Given the description of an element on the screen output the (x, y) to click on. 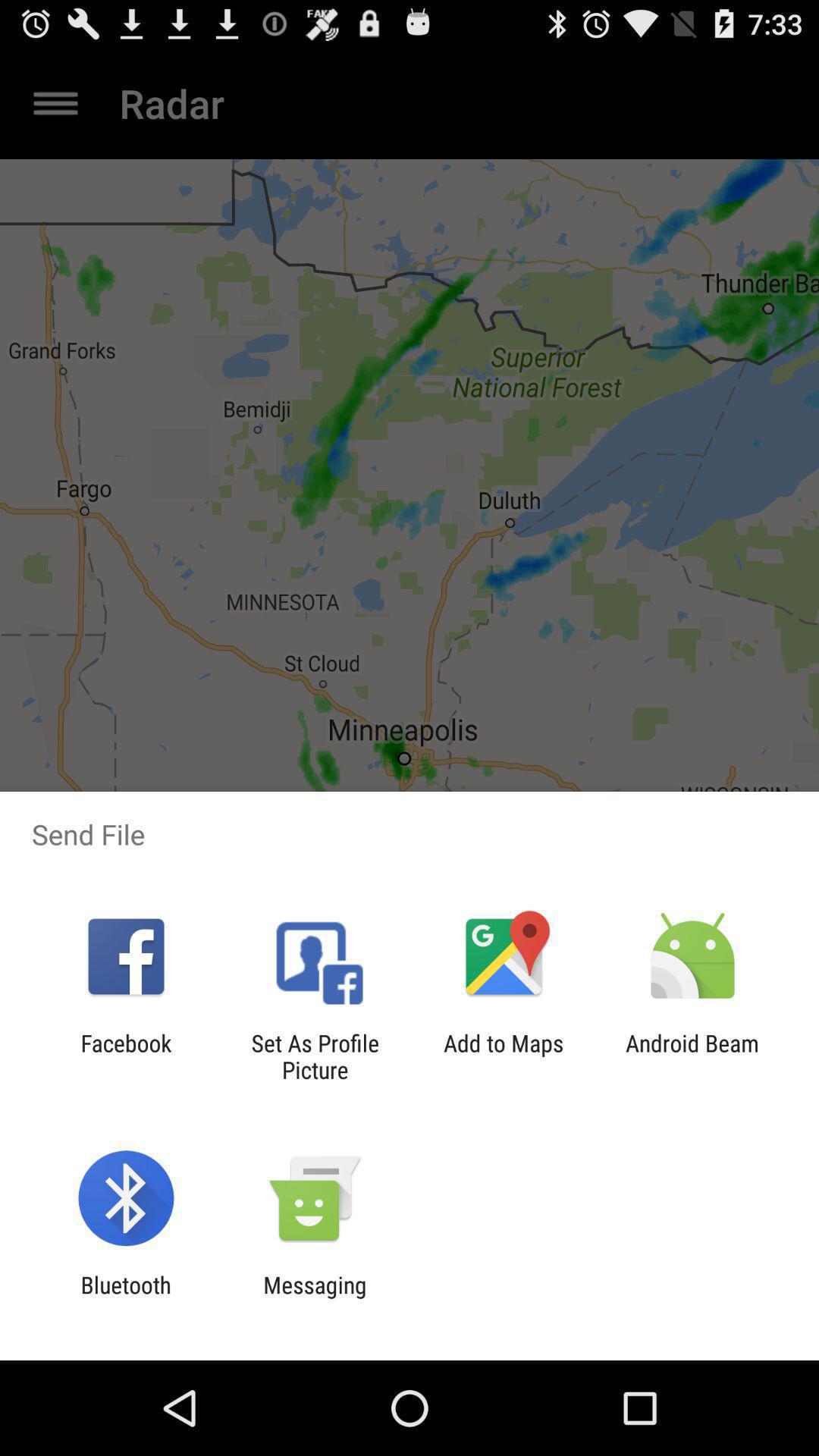
open bluetooth item (125, 1298)
